Given the description of an element on the screen output the (x, y) to click on. 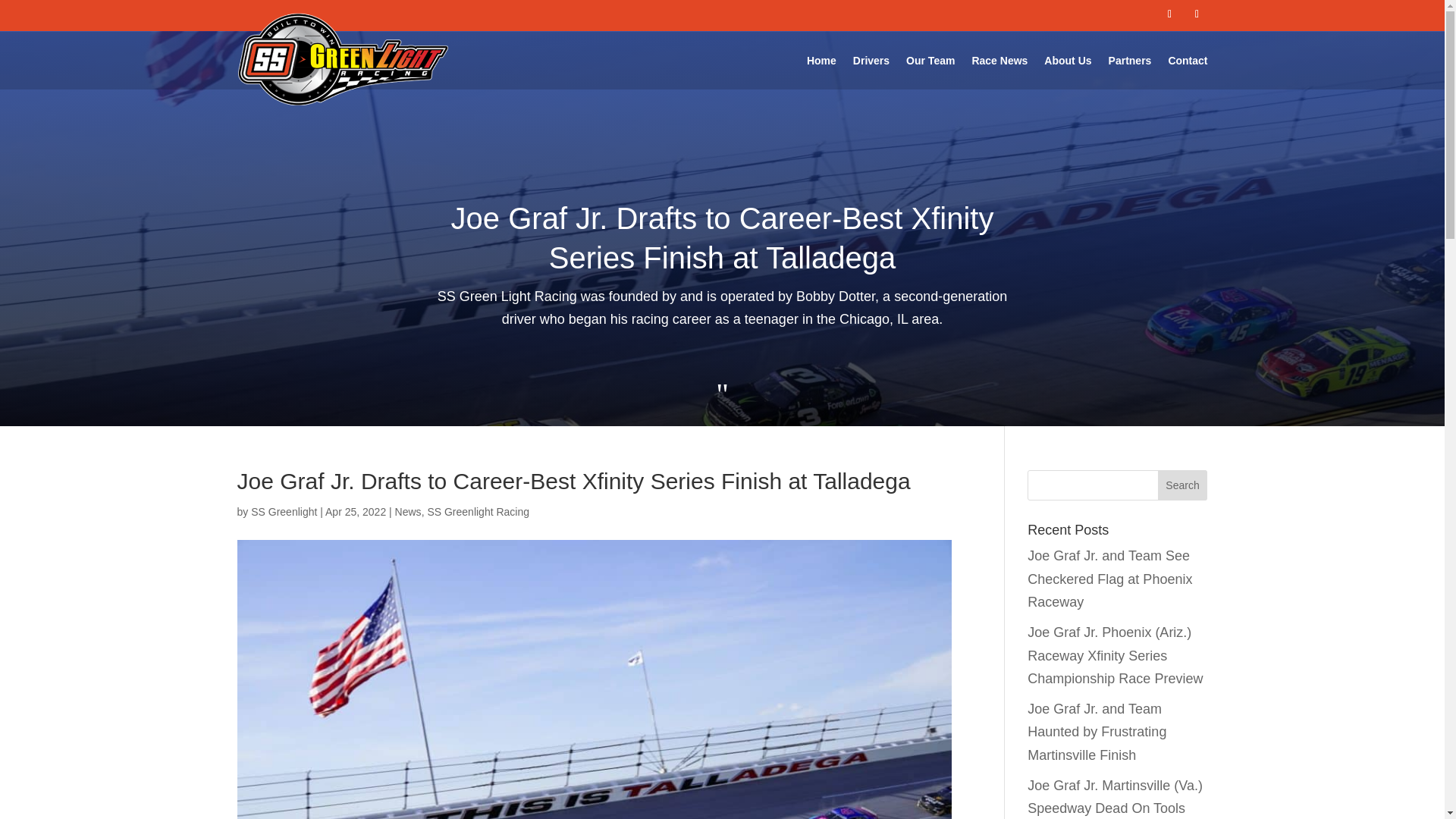
Follow on Facebook (1168, 14)
Race News (999, 60)
Posts by SS Greenlight (283, 511)
Follow on X (1196, 14)
SS Greenlight Racing (477, 511)
SS Greenlight (283, 511)
News (408, 511)
Search (1182, 485)
Search (1182, 485)
Joe Graf Jr. and Team See Checkered Flag at Phoenix Raceway (1109, 578)
